Given the description of an element on the screen output the (x, y) to click on. 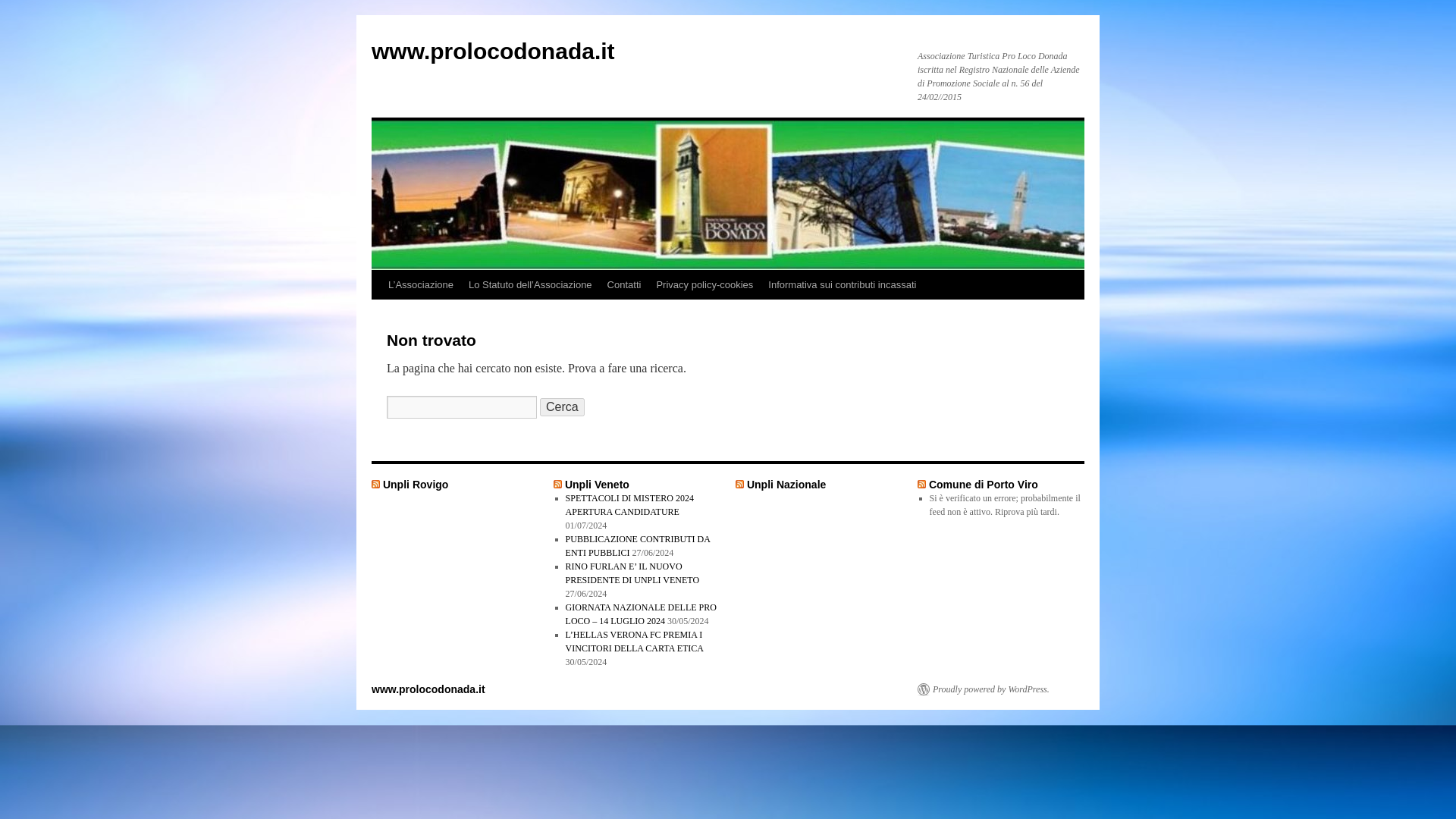
www.prolocodonada.it (492, 50)
PUBBLICAZIONE CONTRIBUTI DA ENTI PUBBLICI (638, 585)
Cerca (562, 446)
Contatti (624, 324)
Unpli Veneto (596, 523)
Privacy policy-cookies (703, 324)
Informativa sui contributi incassati (841, 324)
Cerca (562, 446)
Unpli Rovigo (415, 523)
Unpli Nazionale (785, 523)
SPETTACOLI DI MISTERO 2024 APERTURA CANDIDATURE (630, 544)
Comune di Porto Viro (983, 523)
